Given the description of an element on the screen output the (x, y) to click on. 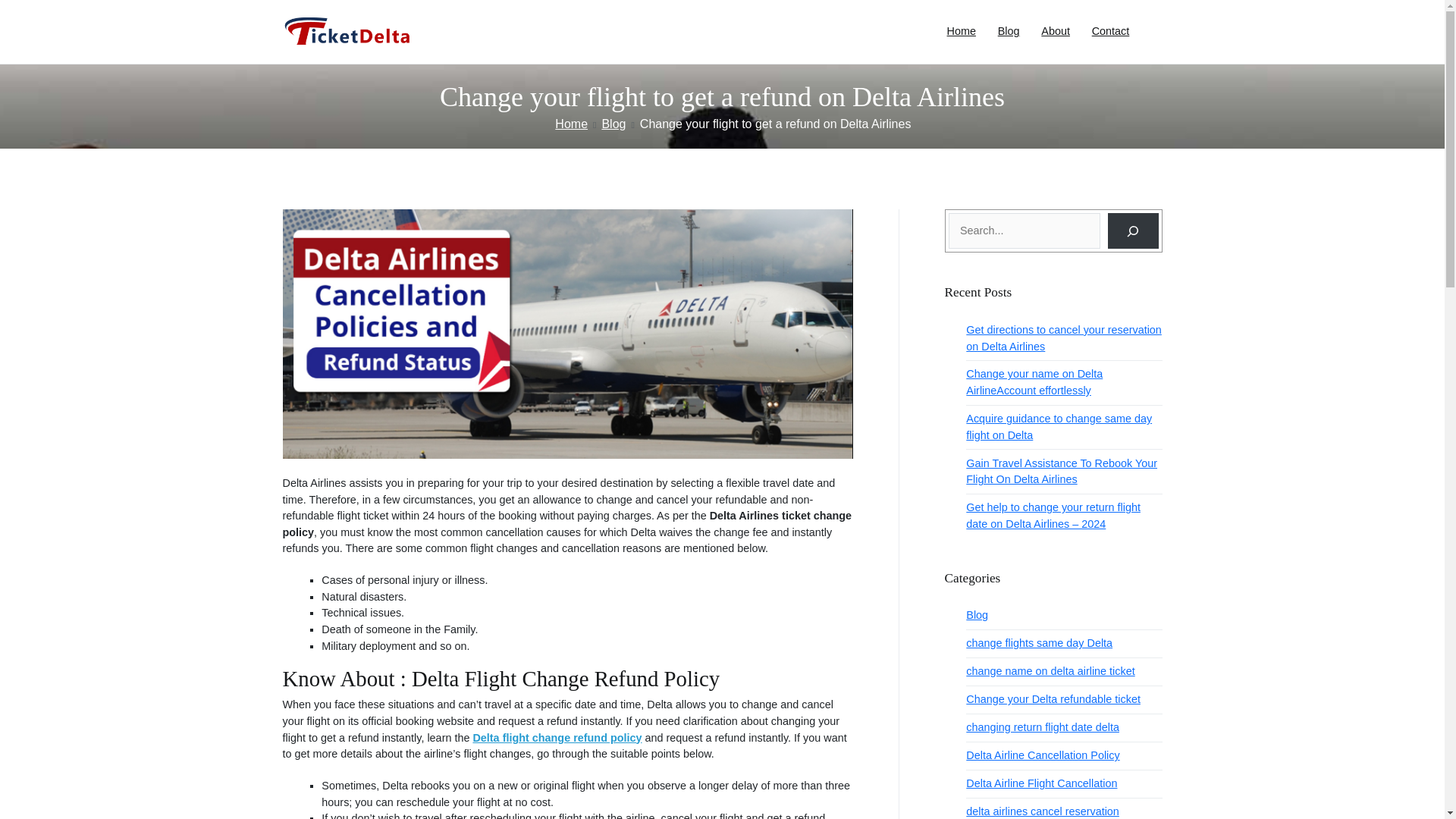
Blog (1008, 31)
Blog (613, 123)
Contact (1110, 31)
Delta Airline Flight Cancellation (1041, 783)
Change your name on Delta AirlineAccount effortlessly (1063, 382)
Ticketdelta (460, 41)
Home (571, 123)
Change your Delta refundable ticket (1053, 699)
change name on delta airline ticket (1050, 671)
delta airlines cancel reservation (1042, 808)
